Given the description of an element on the screen output the (x, y) to click on. 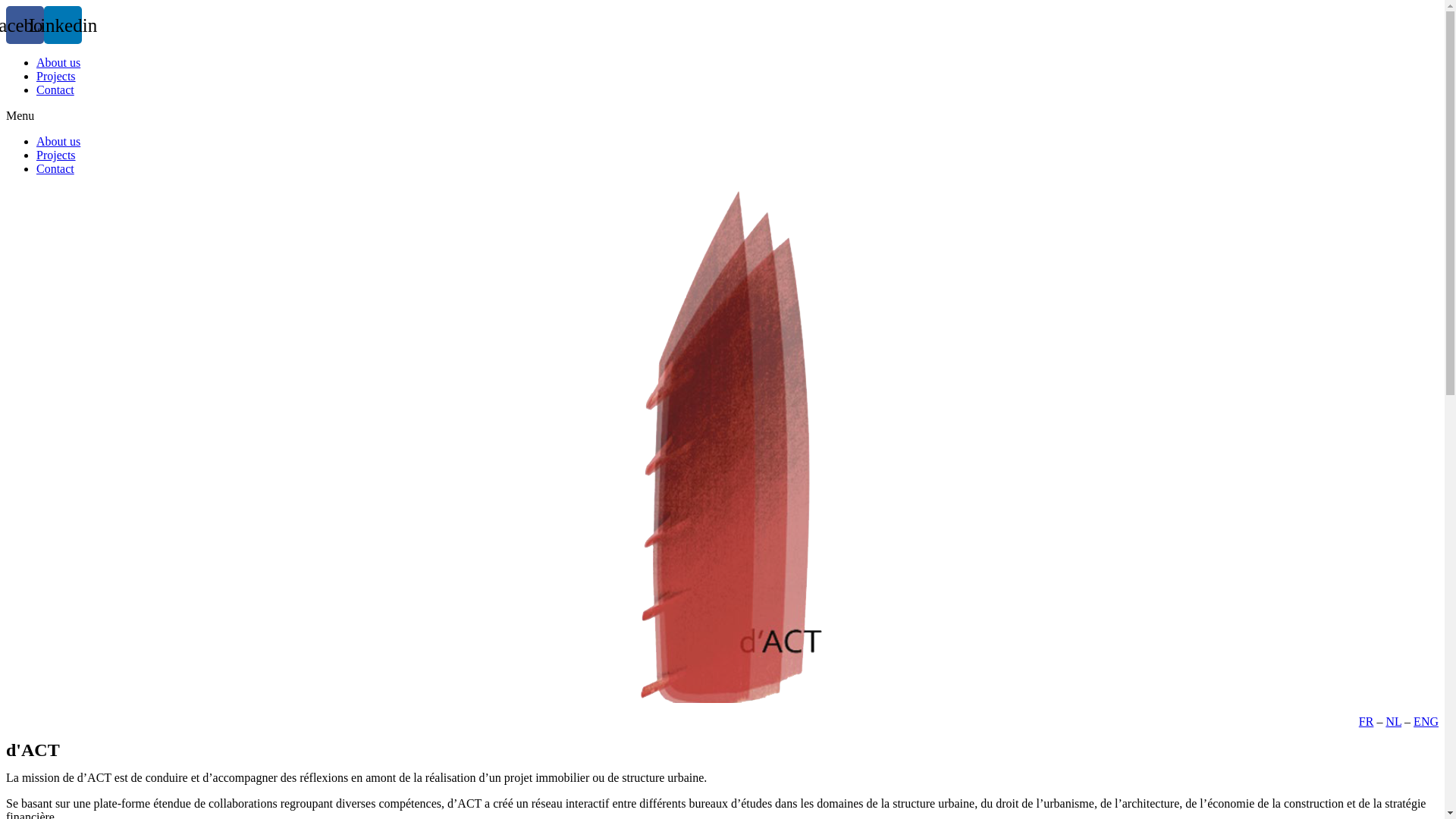
About us Element type: text (58, 140)
About us Element type: text (58, 62)
Projects Element type: text (55, 154)
ENG Element type: text (1425, 721)
Projects Element type: text (55, 75)
Contact Element type: text (55, 89)
FR Element type: text (1366, 721)
Contact Element type: text (55, 168)
Aller au contenu Element type: text (5, 5)
NL Element type: text (1393, 721)
Linkedin Element type: text (62, 24)
Facebook Element type: text (24, 24)
